Given the description of an element on the screen output the (x, y) to click on. 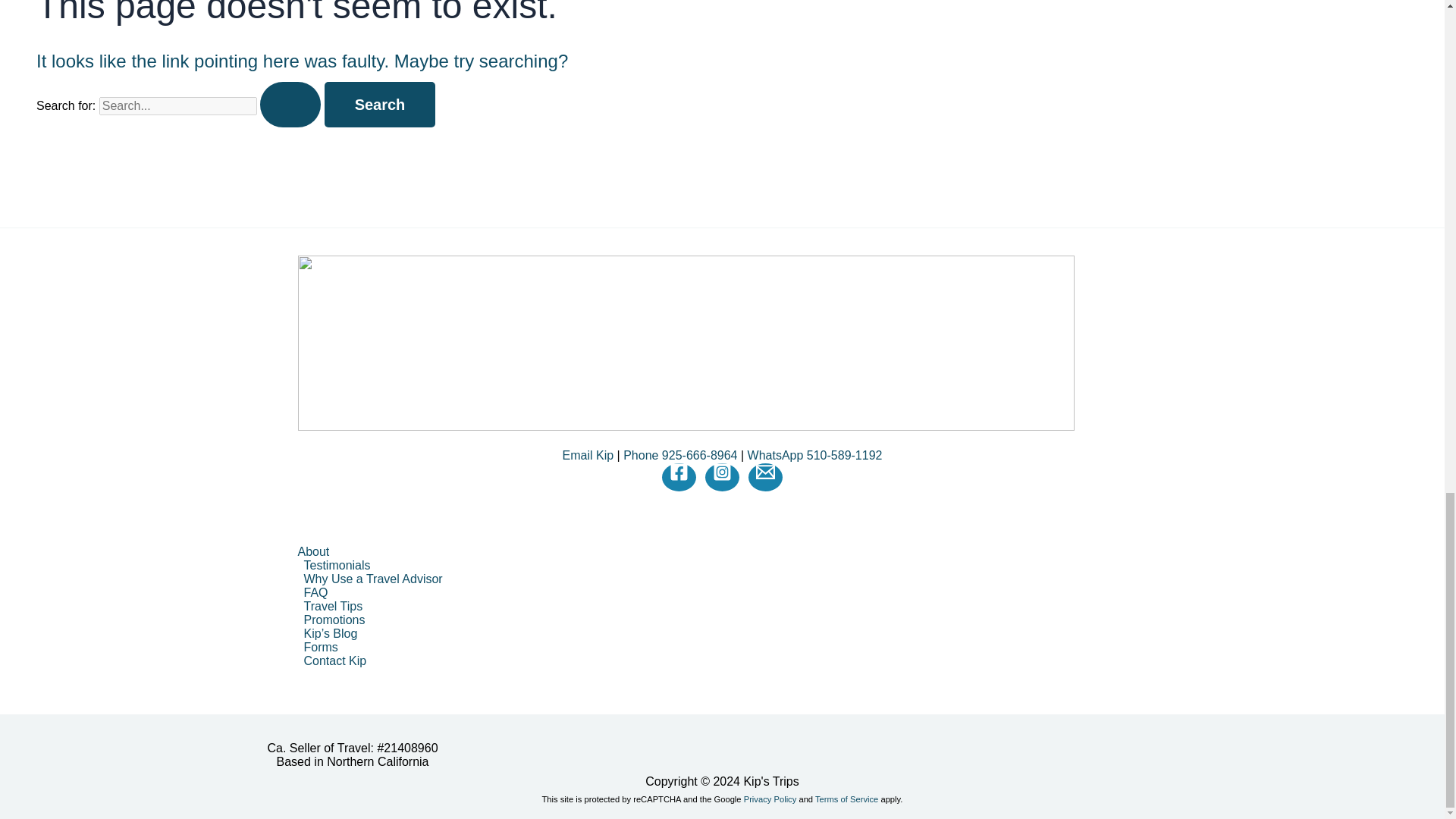
Email (764, 471)
Search (379, 104)
Search (379, 104)
Search (379, 104)
Email Kip (588, 454)
